Given the description of an element on the screen output the (x, y) to click on. 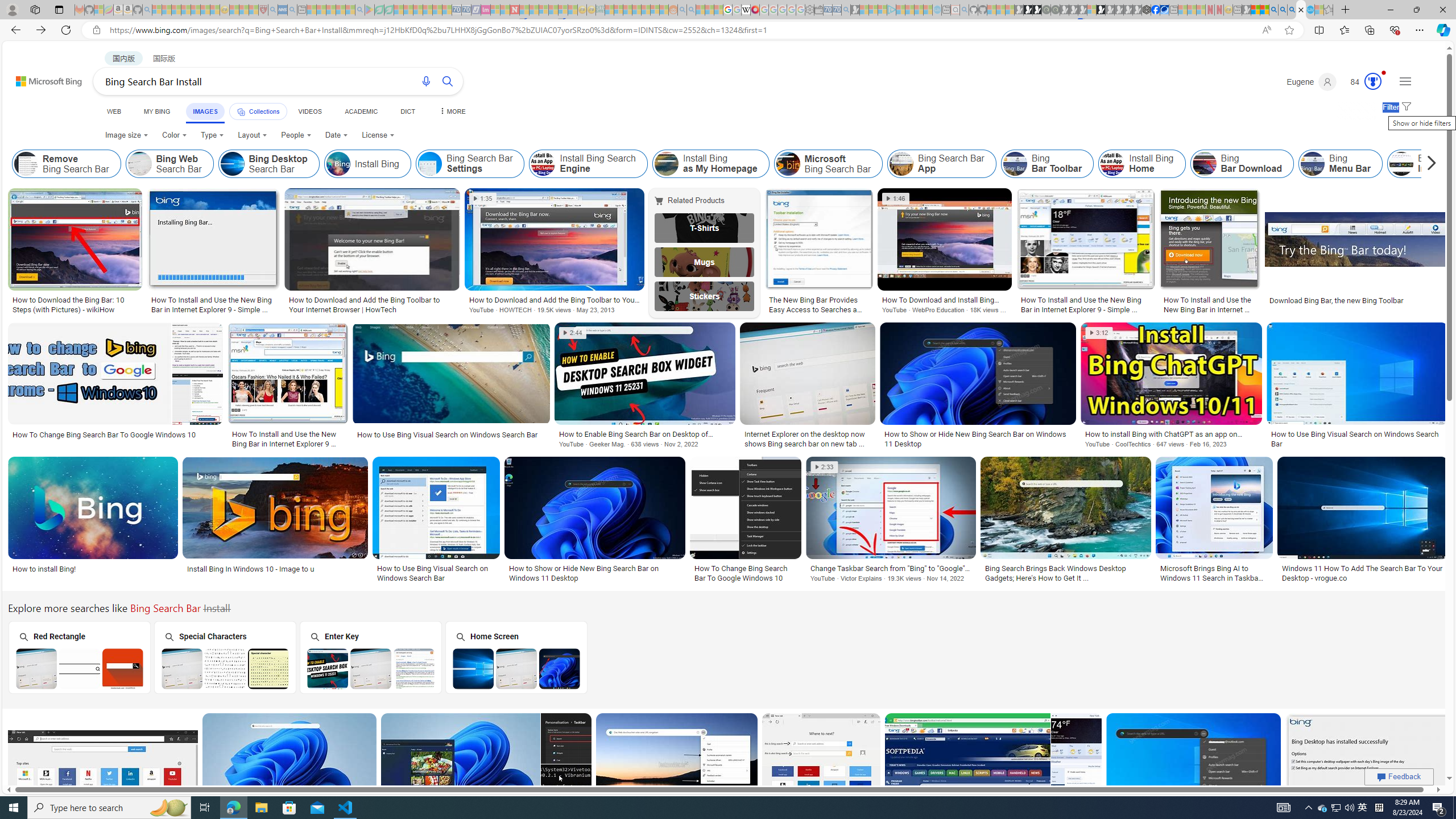
How to Use Bing Visual Search on Windows Search BarSave (437, 521)
Special Characters (224, 656)
1:46 (895, 198)
WEB (114, 111)
Color (173, 135)
